Given the description of an element on the screen output the (x, y) to click on. 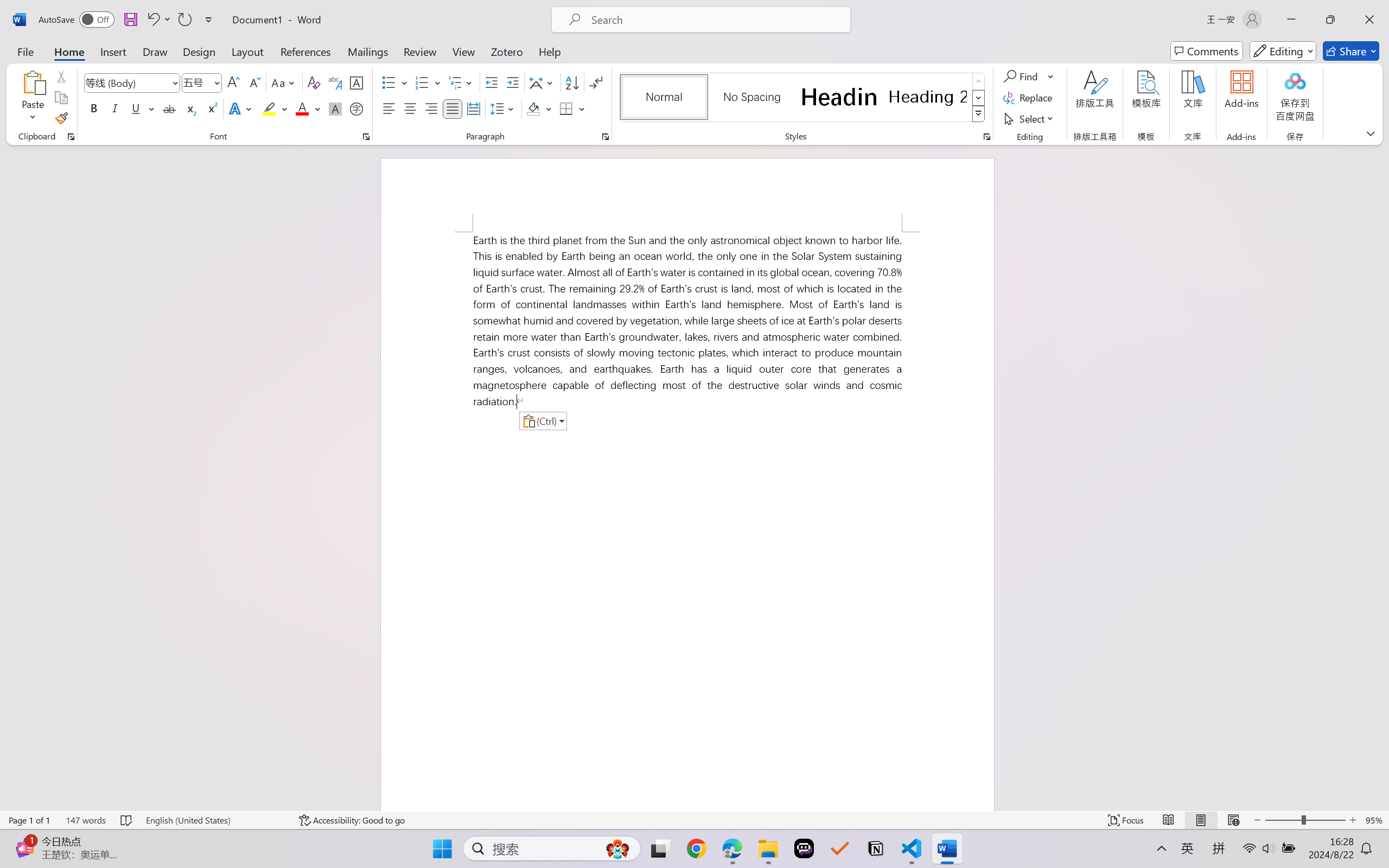
Shading (539, 108)
Row up (978, 81)
Format Painter (60, 118)
Open (215, 82)
Sort... (571, 82)
Page 1 content (687, 521)
Class: MsoCommandBar (694, 819)
Select (1030, 118)
